Given the description of an element on the screen output the (x, y) to click on. 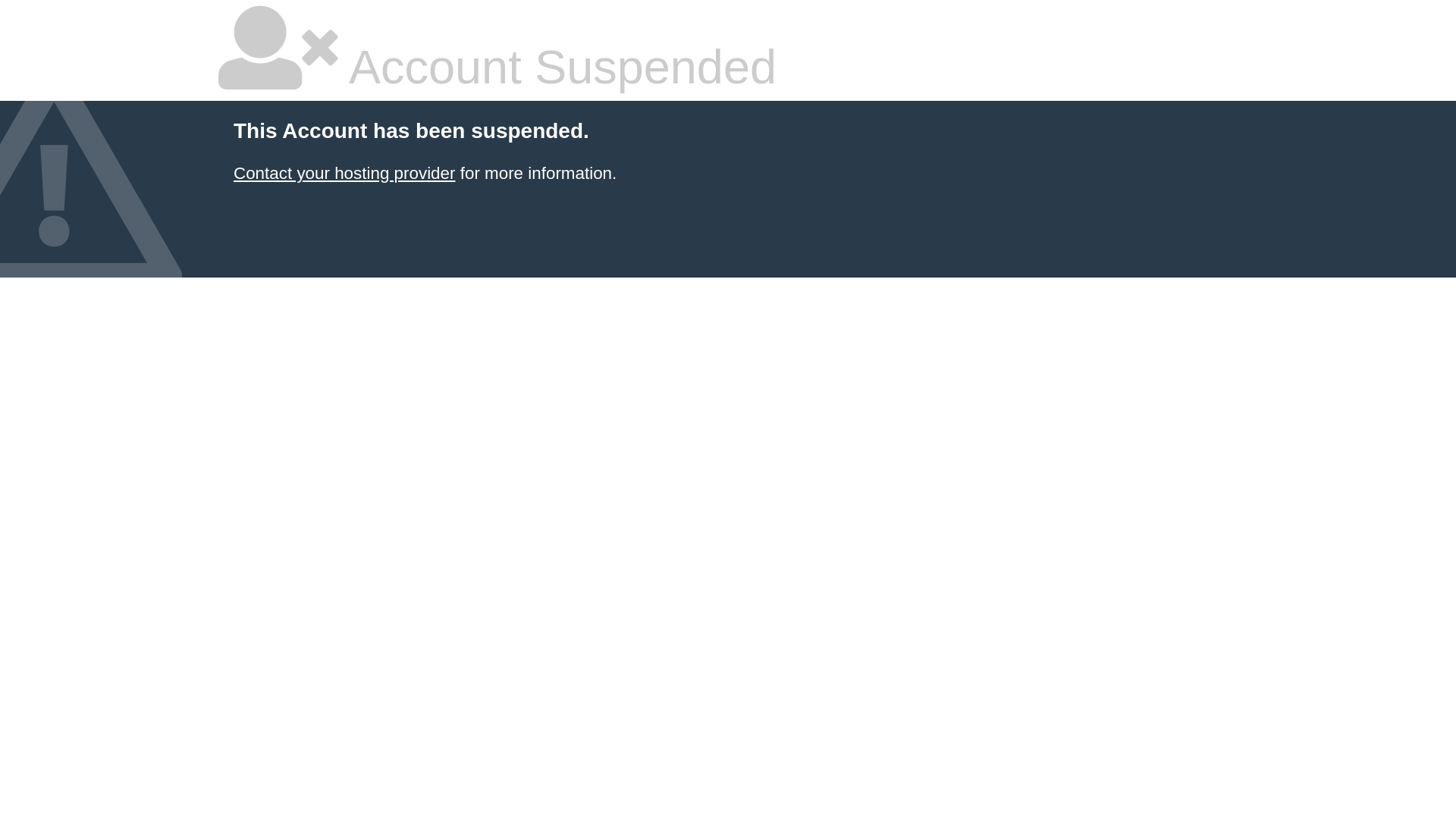
Contact your hosting provider Element type: text (344, 172)
